Given the description of an element on the screen output the (x, y) to click on. 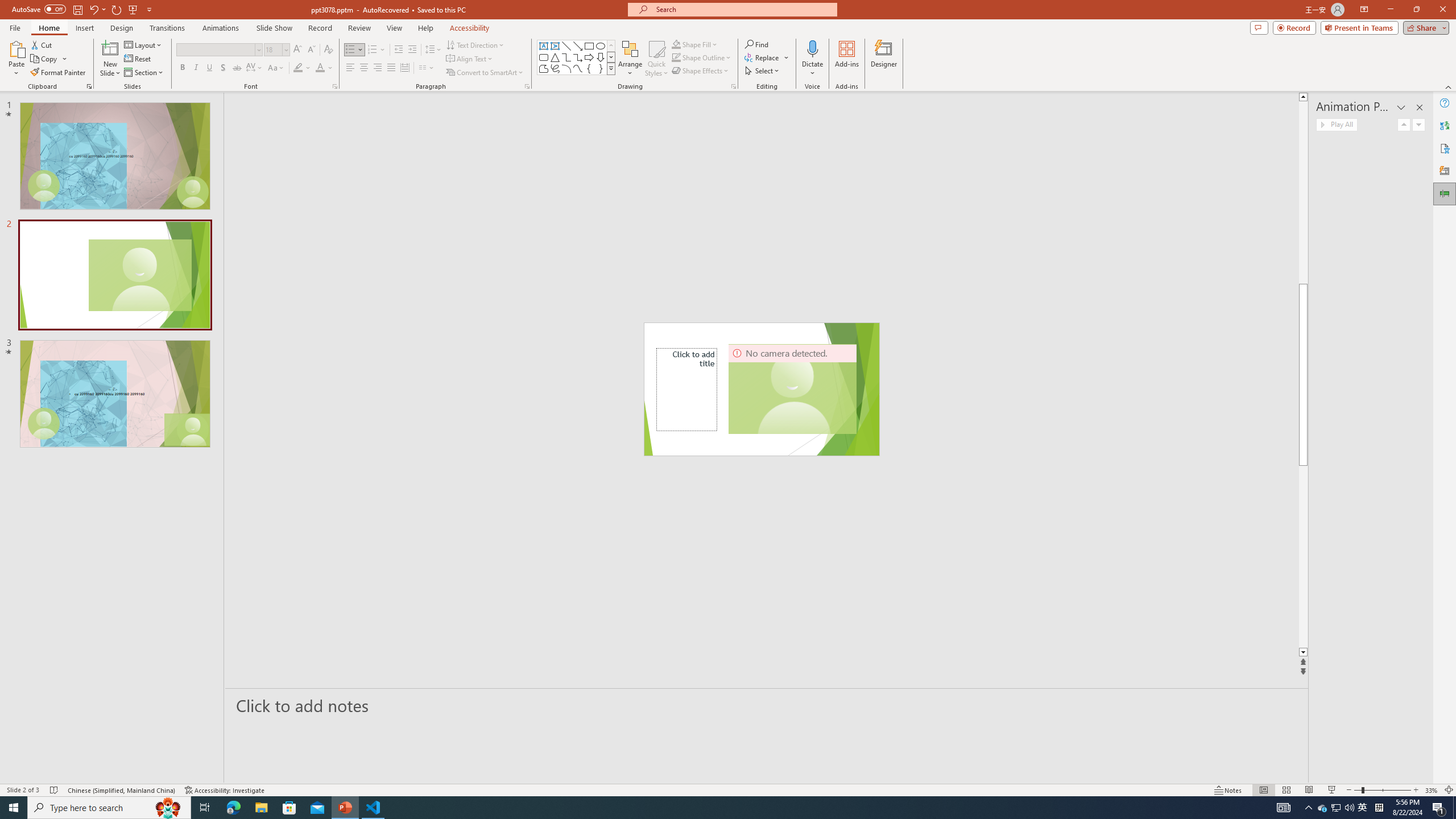
Increase Font Size (297, 49)
Move Up (1403, 124)
New Slide (110, 58)
Connector: Elbow (566, 57)
Play All (1336, 124)
Arrow: Down (600, 57)
Shape Effects (700, 69)
Strikethrough (237, 67)
Home (48, 28)
Quick Access Toolbar (82, 9)
Font (215, 49)
Line Spacing (433, 49)
Arrange (630, 58)
Insert (83, 28)
